Given the description of an element on the screen output the (x, y) to click on. 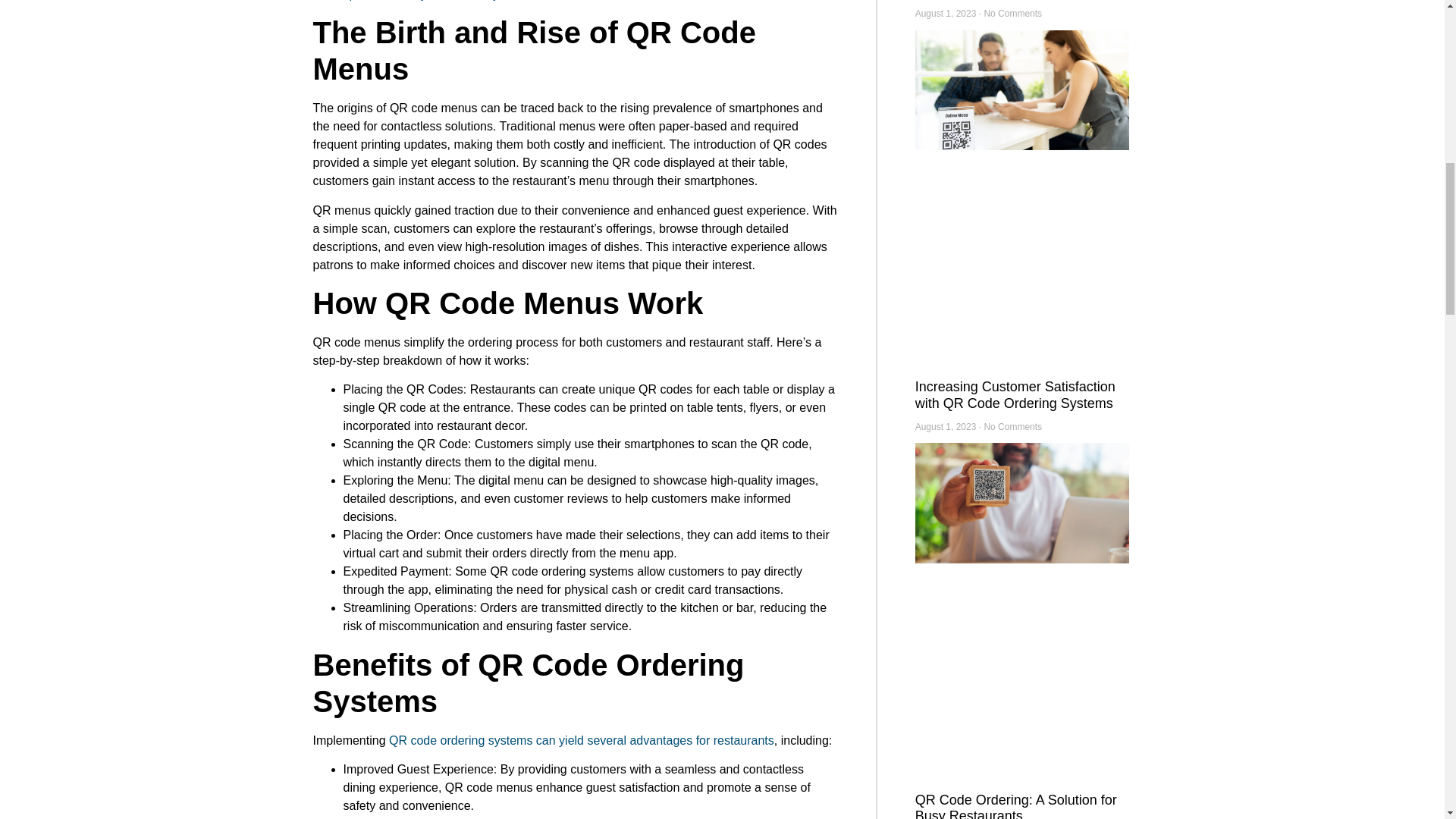
QR Code Ordering: A Solution for Busy Restaurants (1015, 805)
